Given the description of an element on the screen output the (x, y) to click on. 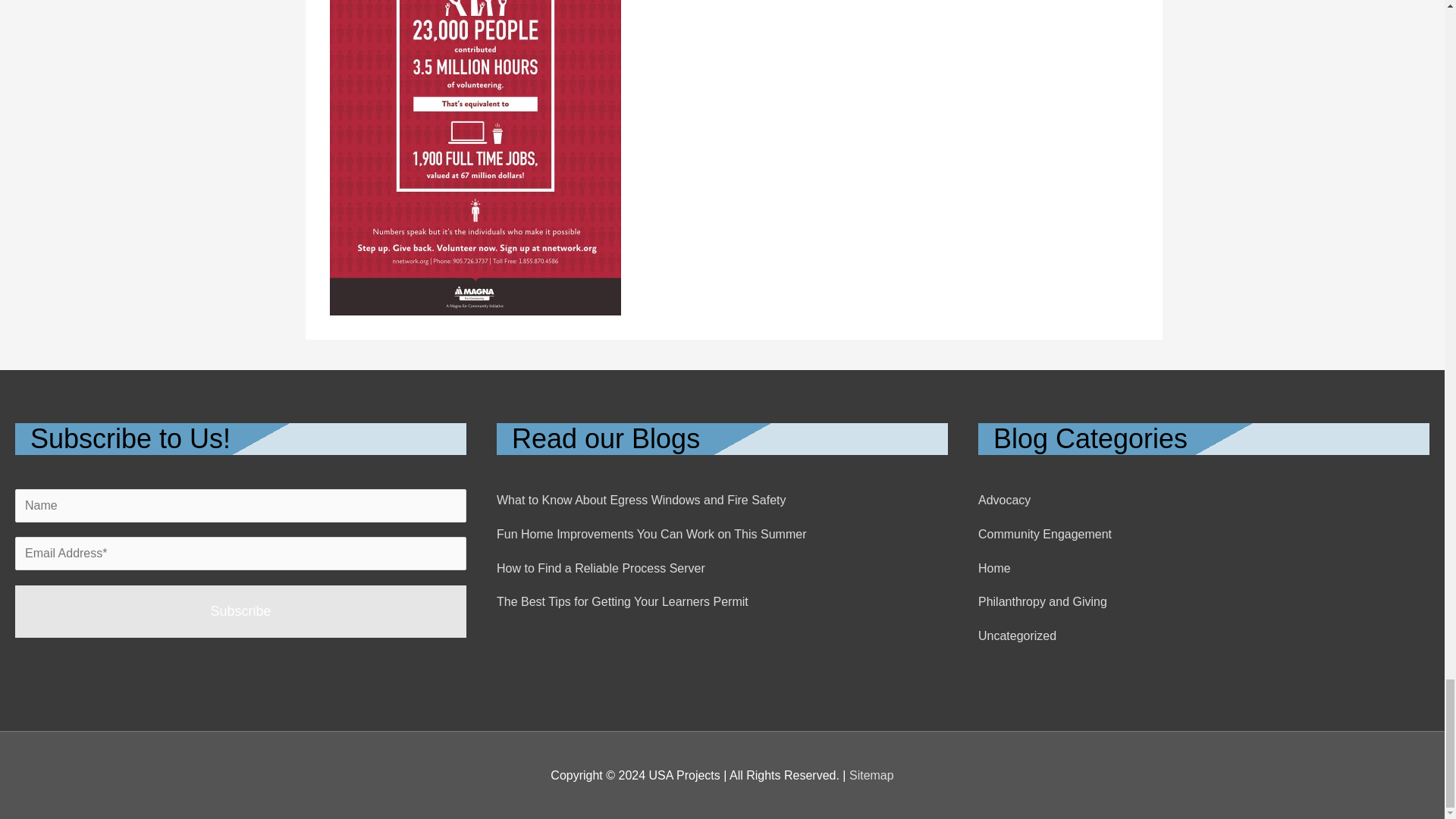
What to Know About Egress Windows and Fire Safety (641, 499)
Subscribe (239, 611)
How to Find a Reliable Process Server (600, 567)
Fun Home Improvements You Can Work on This Summer (651, 533)
Subscribe (239, 611)
The Best Tips for Getting Your Learners Permit (622, 601)
